Given the description of an element on the screen output the (x, y) to click on. 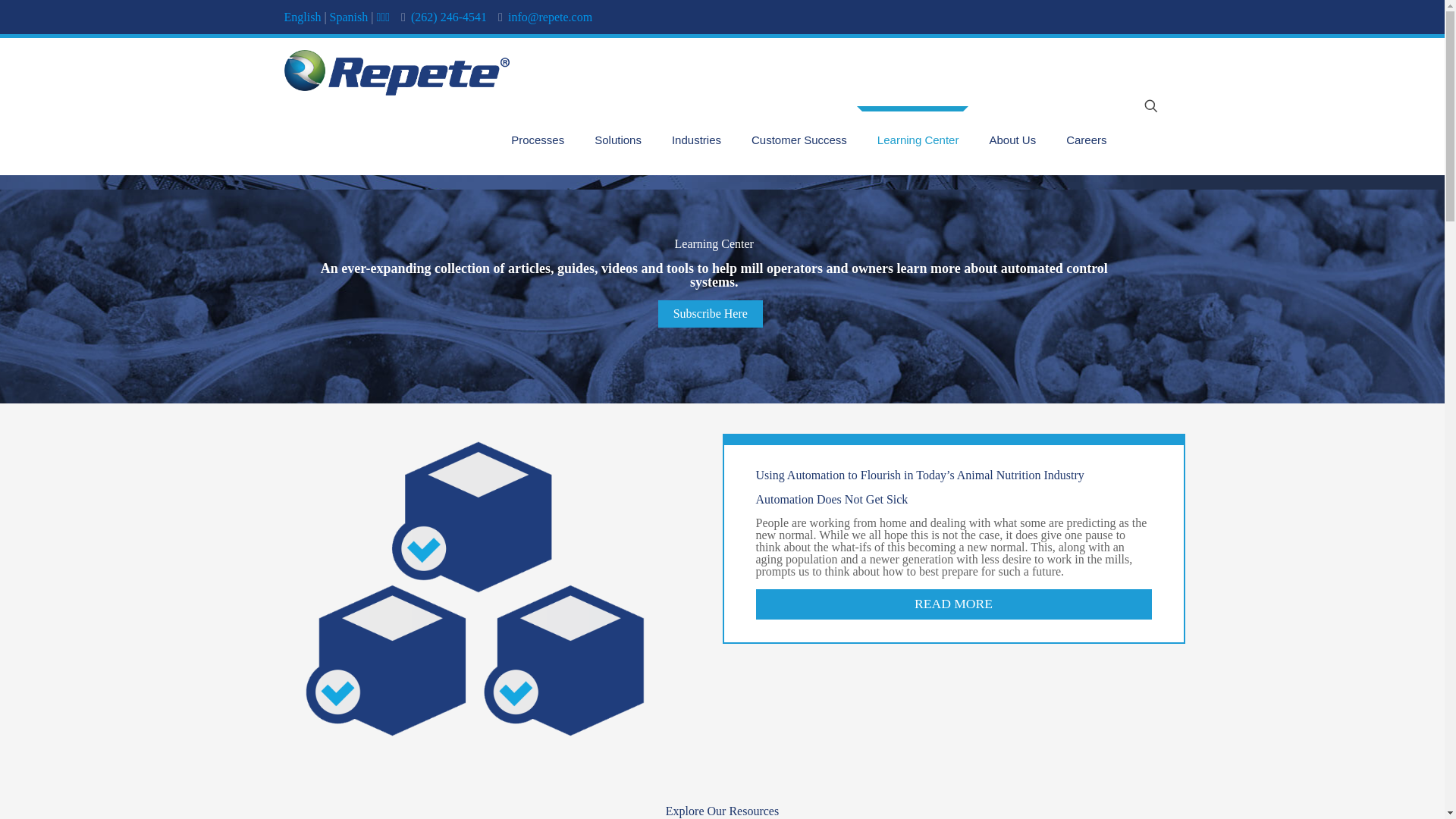
Industries (696, 140)
About Us (1012, 140)
Repete (395, 71)
Processes (537, 140)
Solutions (617, 140)
Careers (1086, 140)
Learning Center (917, 140)
Customer Success (798, 140)
English (301, 16)
Spanish (349, 16)
